Given the description of an element on the screen output the (x, y) to click on. 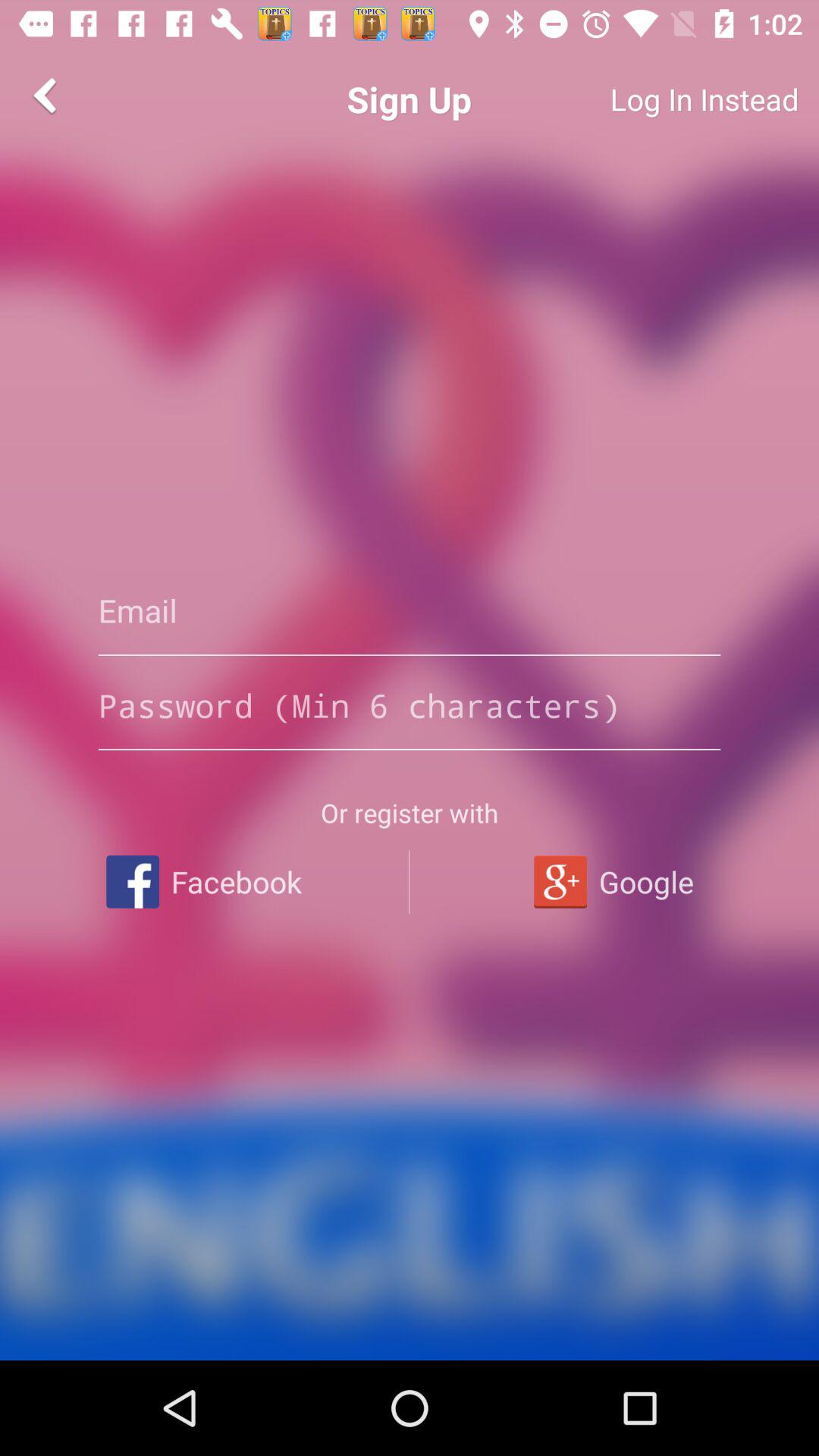
back (47, 95)
